Given the description of an element on the screen output the (x, y) to click on. 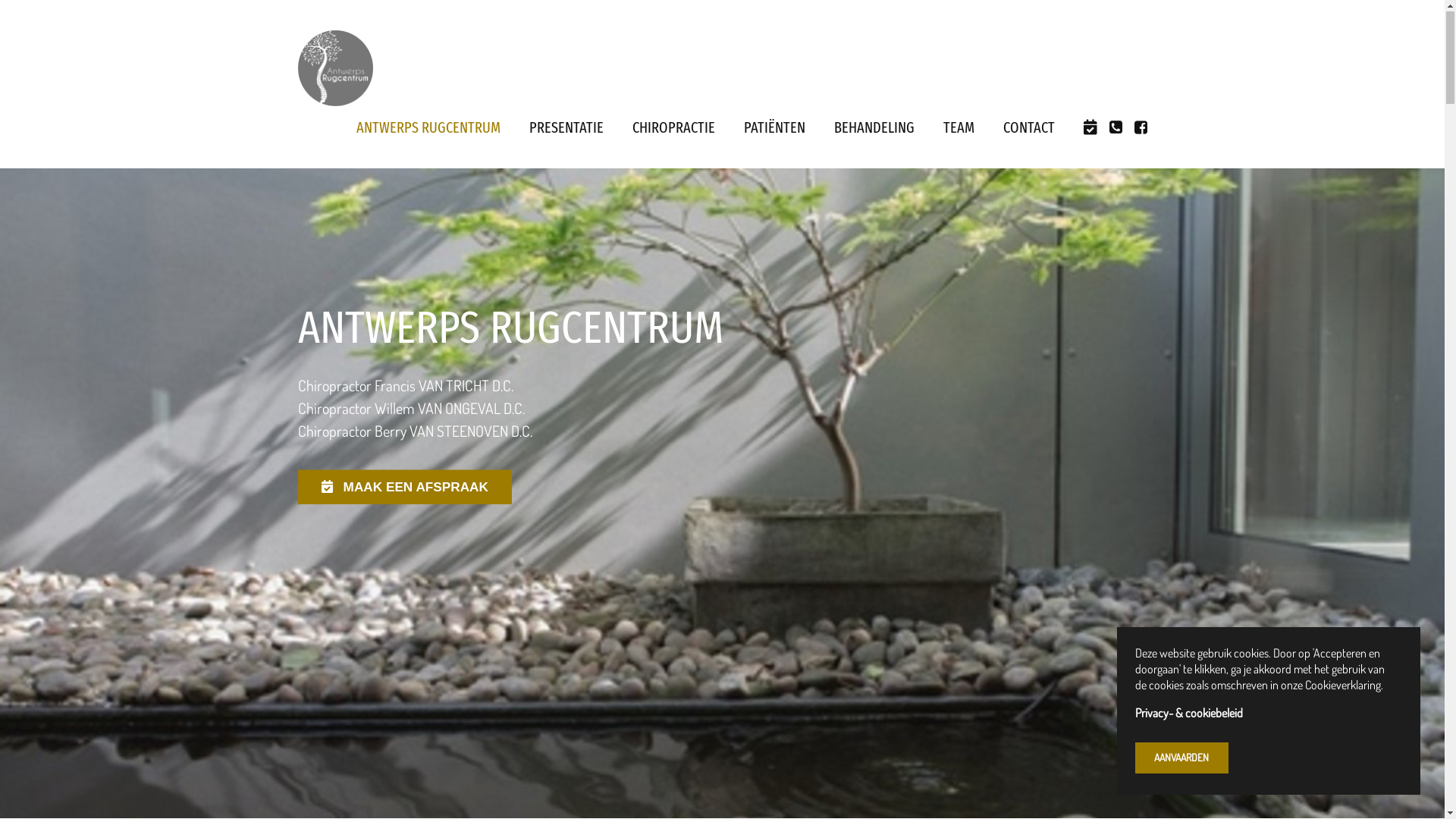
Privacy- & cookiebeleid Element type: text (1262, 713)
Merksem Element type: hover (1114, 127)
online afspraak boeken Element type: hover (1089, 127)
ANTWERPS RUGCENTRUM Element type: text (428, 127)
CHIROPRACTIE Element type: text (673, 127)
TEAM Element type: text (958, 127)
AANVAARDEN Element type: text (1181, 758)
CONTACT Element type: text (1028, 127)
PRESENTATIE Element type: text (566, 127)
BEHANDELING Element type: text (874, 127)
   MAAK EEN AFSPRAAK Element type: text (404, 487)
   MAAK EEN AFSPRAAK Element type: text (407, 485)
online afspraak maken Element type: hover (328, 486)
